Given the description of an element on the screen output the (x, y) to click on. 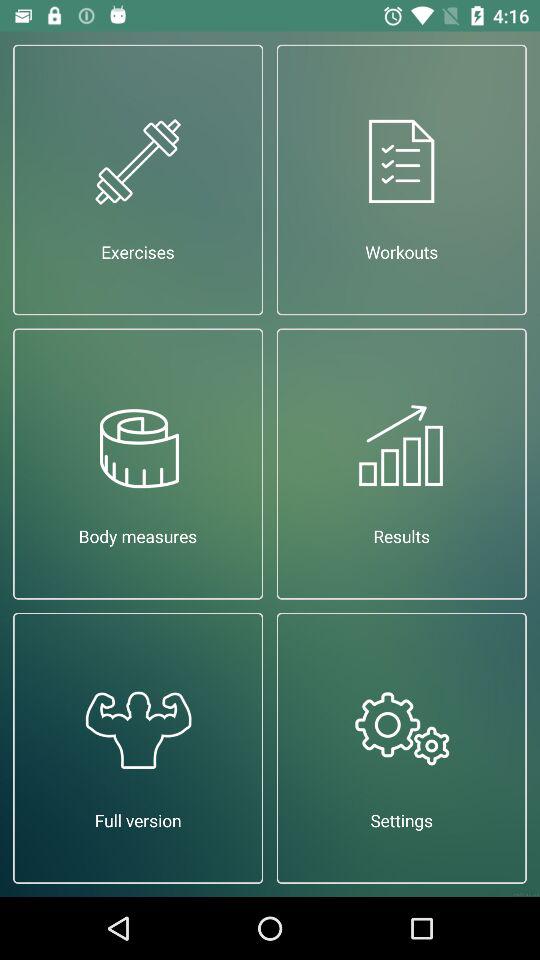
press the full version (137, 748)
